Given the description of an element on the screen output the (x, y) to click on. 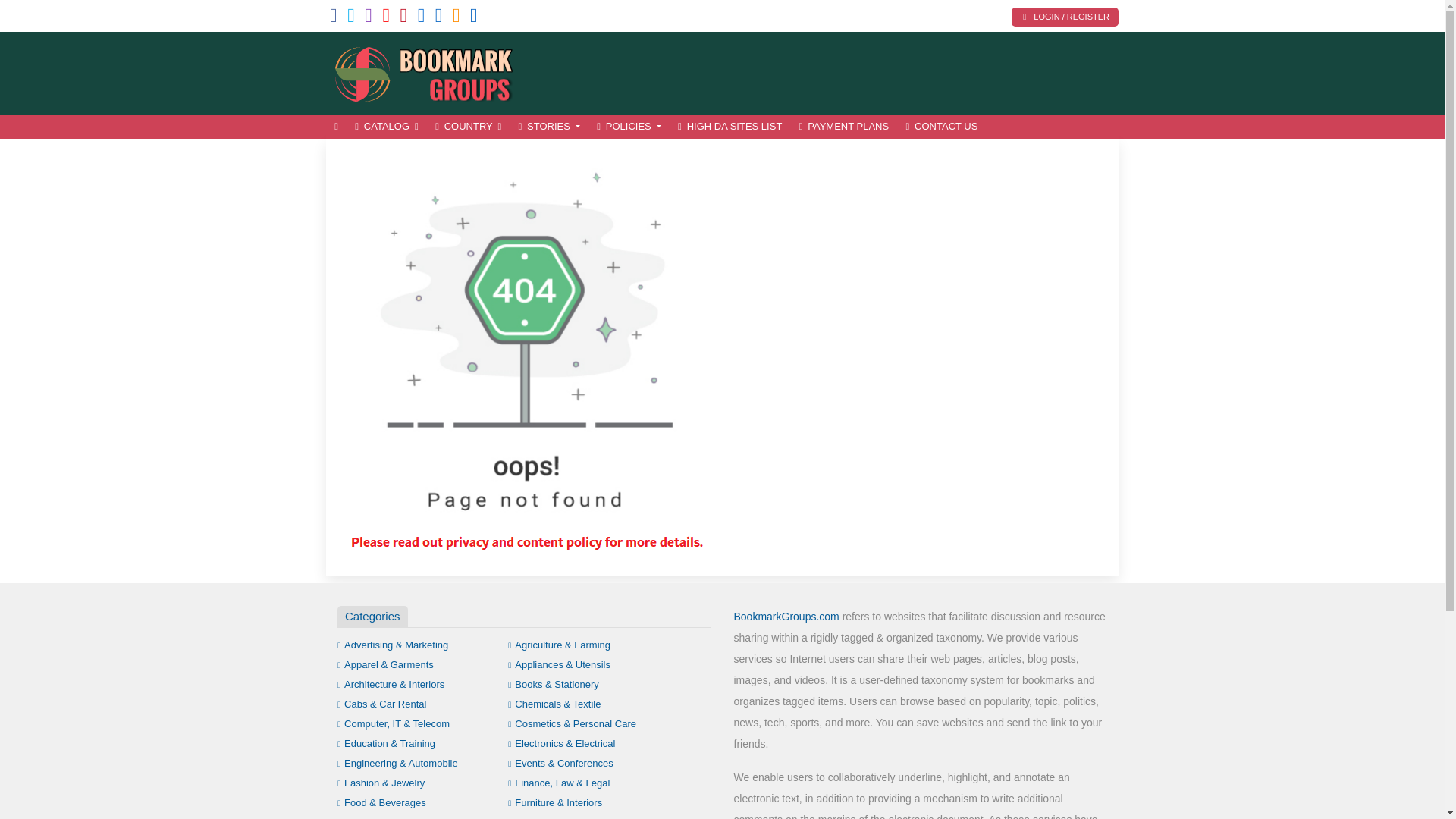
Submit Story, News, Videos and Images to SEO Web Community (428, 71)
CATALOG (386, 126)
